Given the description of an element on the screen output the (x, y) to click on. 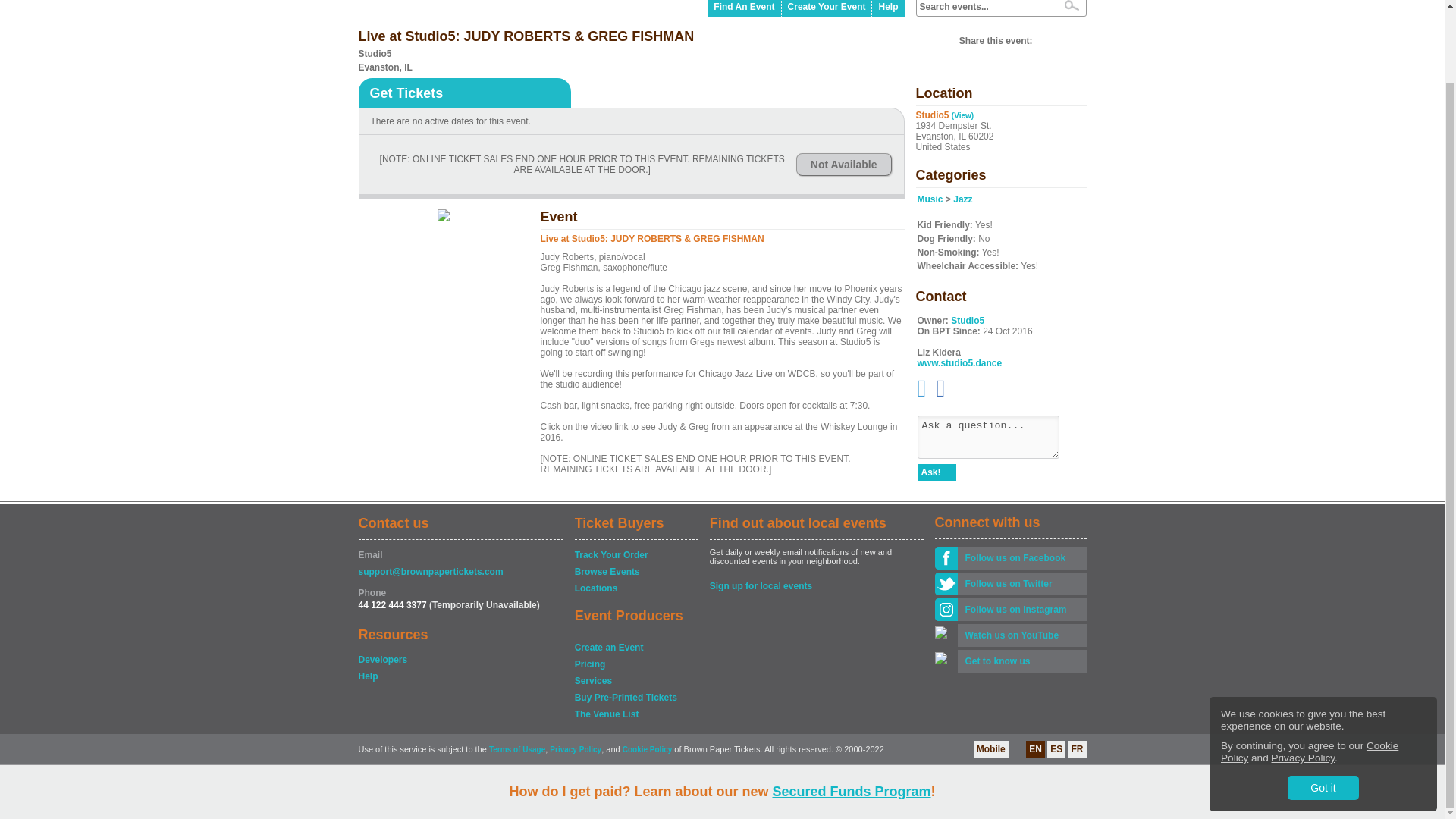
Search events... (984, 6)
Buy Pre-Printed Tickets (636, 697)
Got it (1322, 705)
Developers (460, 659)
Ask! (936, 472)
Sign up for local events (816, 585)
Not Available (843, 164)
Got it (1322, 705)
Search Events (1070, 5)
Secured Funds Program (850, 709)
